Given the description of an element on the screen output the (x, y) to click on. 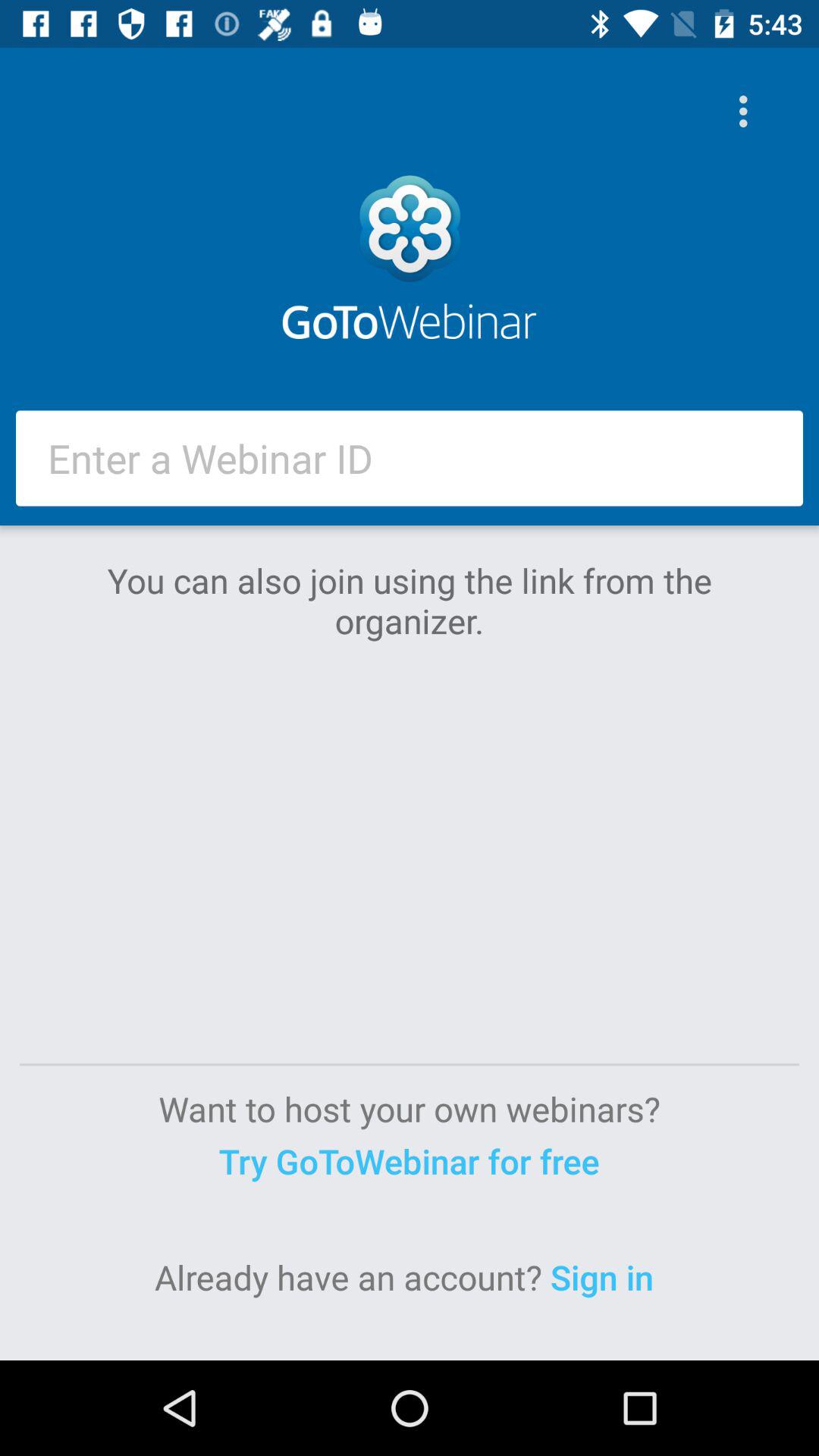
choose the item next to the already have an (606, 1276)
